Given the description of an element on the screen output the (x, y) to click on. 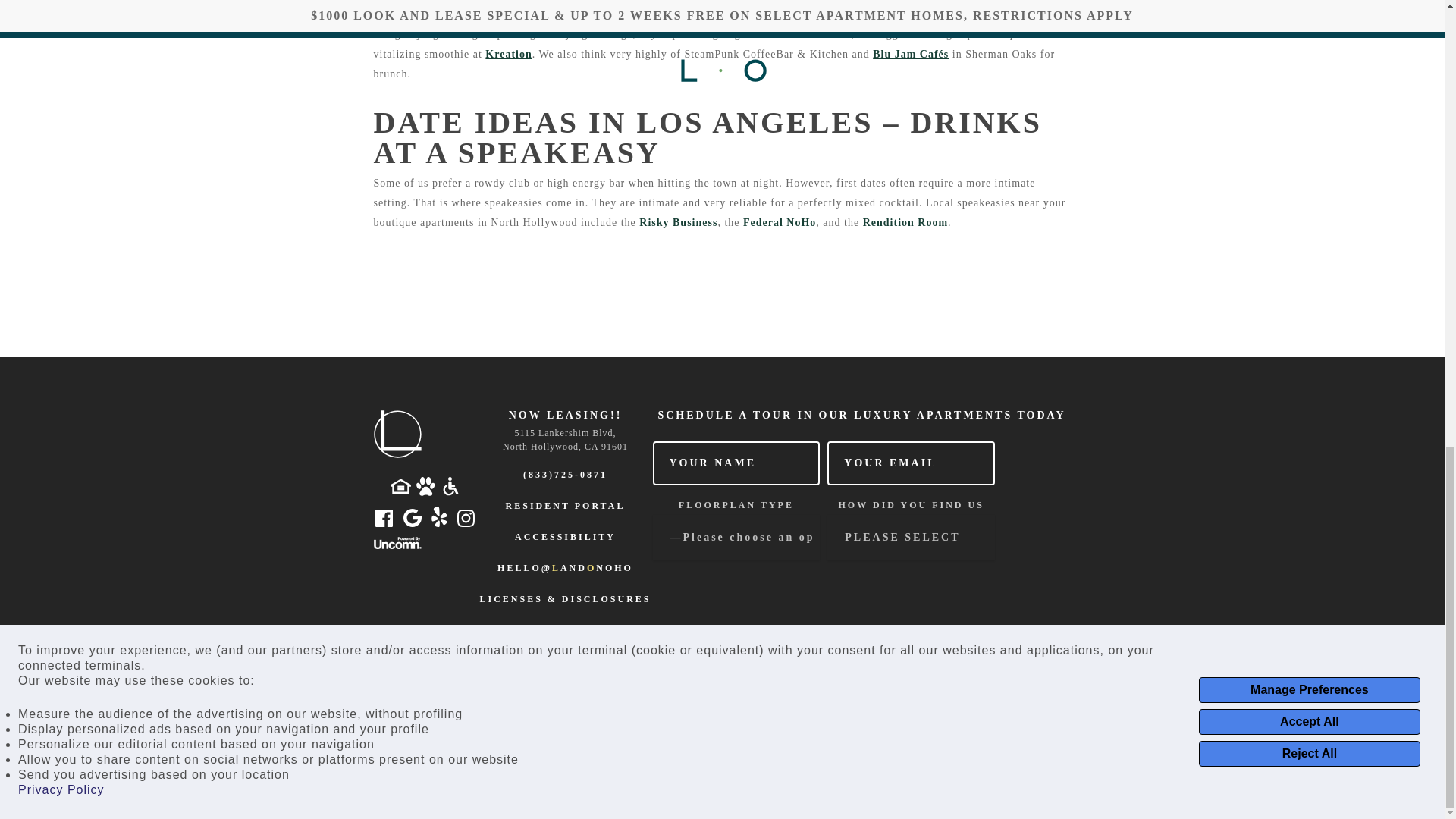
Federal NoHo (778, 222)
Aroma Coffee and Tea (1008, 14)
Risky Business (678, 222)
Kreation (507, 53)
